Given the description of an element on the screen output the (x, y) to click on. 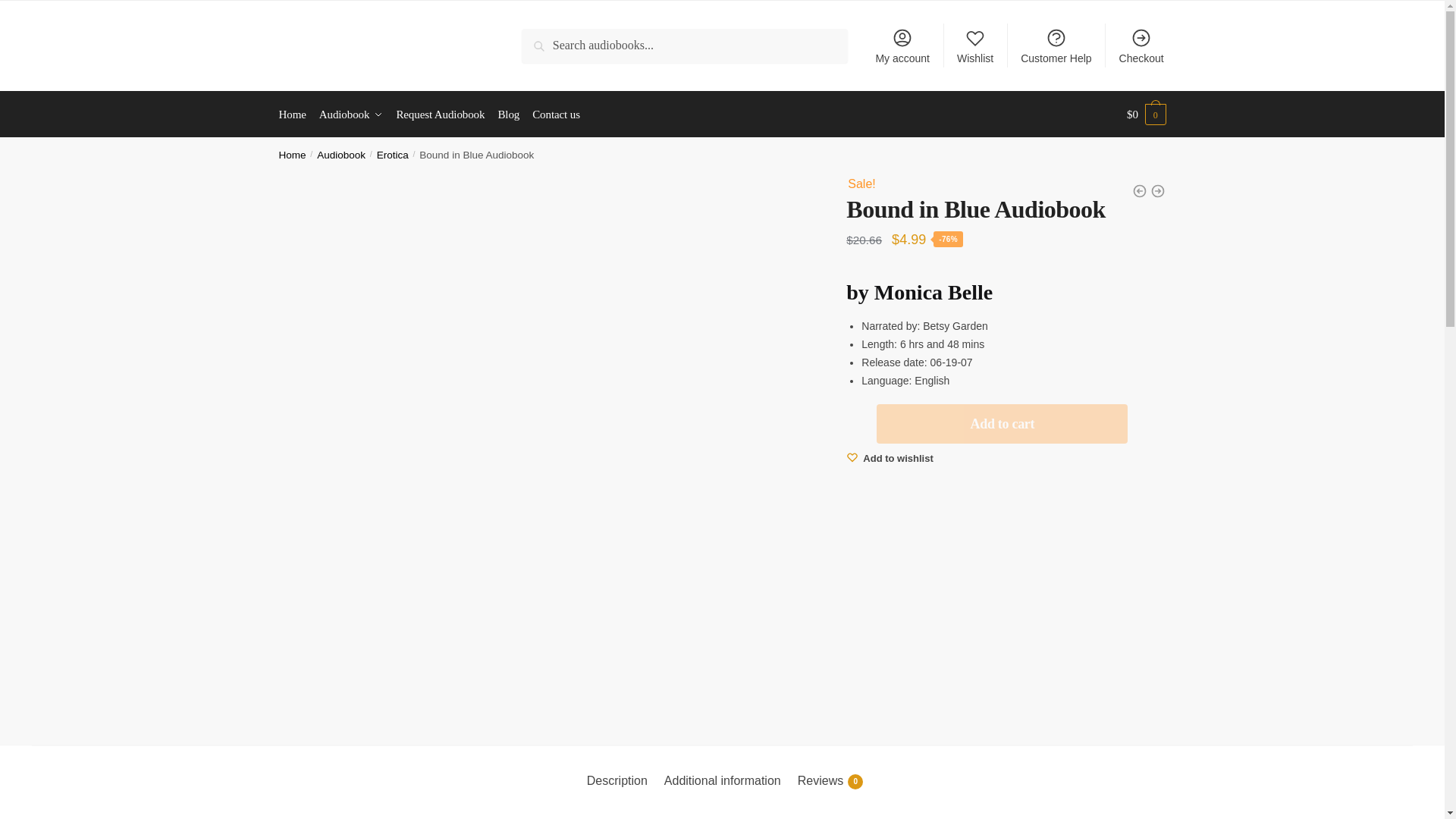
Home (296, 114)
View your shopping cart (1146, 114)
My account (902, 45)
Wishlist (975, 45)
Search (542, 38)
Checkout (1141, 45)
Audiobook (351, 114)
Customer Help (1055, 45)
